Given the description of an element on the screen output the (x, y) to click on. 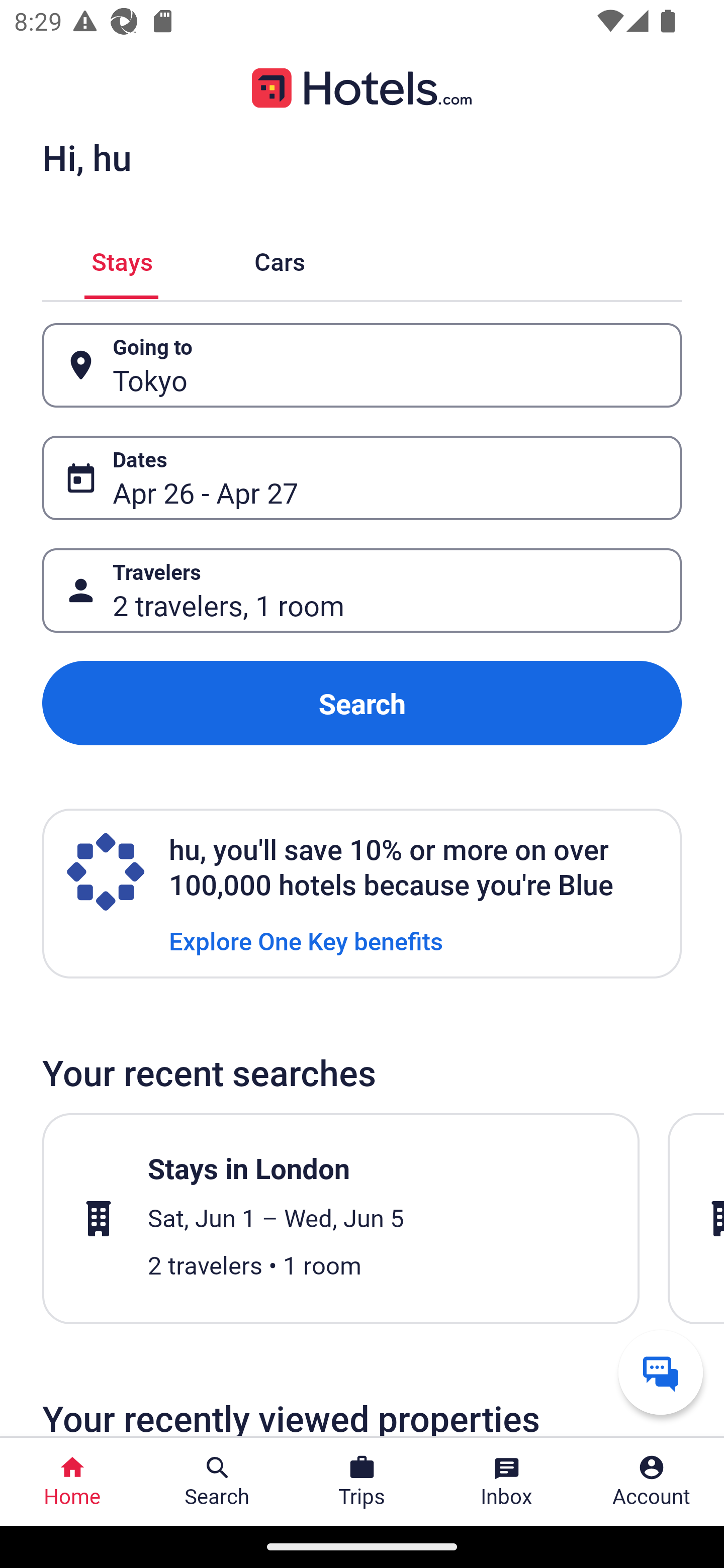
Hi, hu (86, 156)
Cars (279, 259)
Going to Button Tokyo (361, 365)
Dates Button Apr 26 - Apr 27 (361, 477)
Travelers Button 2 travelers, 1 room (361, 590)
Search (361, 702)
Get help from a virtual agent (660, 1371)
Search Search Button (216, 1481)
Trips Trips Button (361, 1481)
Inbox Inbox Button (506, 1481)
Account Profile. Button (651, 1481)
